Given the description of an element on the screen output the (x, y) to click on. 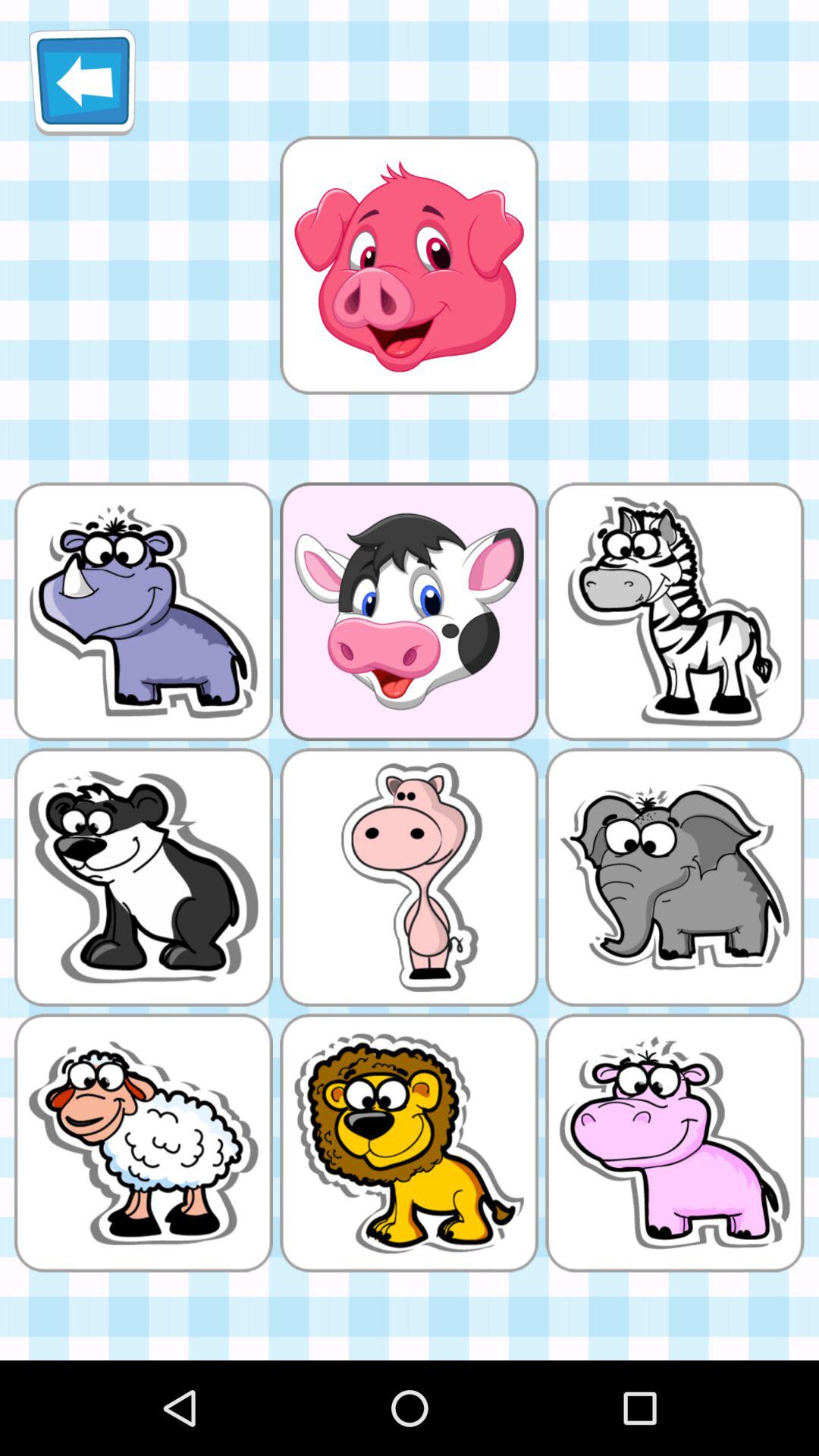
go back (82, 82)
